Given the description of an element on the screen output the (x, y) to click on. 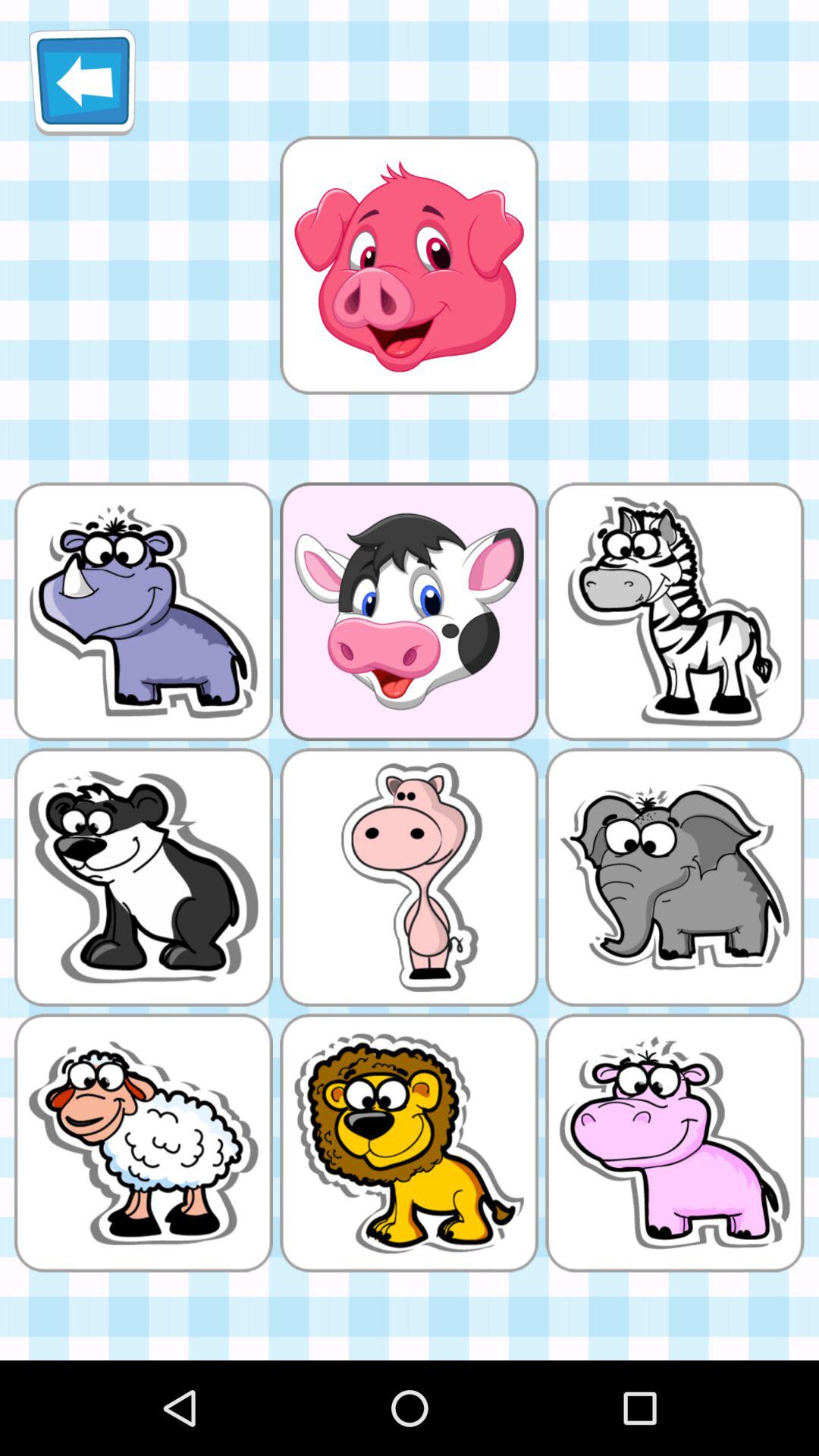
go back (82, 82)
